Given the description of an element on the screen output the (x, y) to click on. 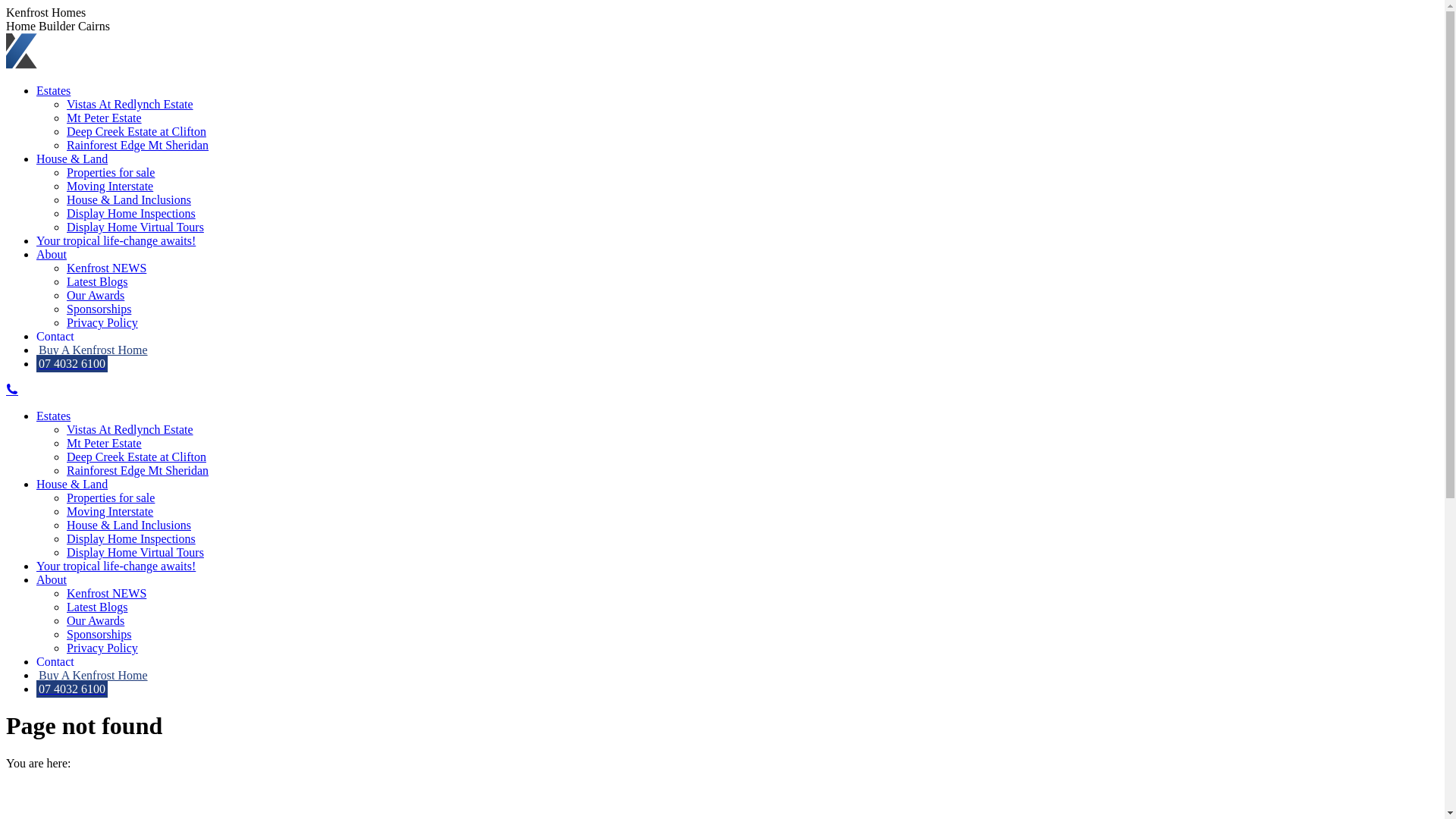
Privacy Policy Element type: text (102, 647)
Sponsorships Element type: text (98, 308)
Vistas At Redlynch Estate Element type: text (129, 429)
Rainforest Edge Mt Sheridan Element type: text (137, 470)
Home Element type: text (50, 788)
07 4032 6100 Element type: text (71, 363)
Our Awards Element type: text (95, 620)
Kenfrost NEWS Element type: text (106, 592)
About Element type: text (51, 253)
Contact Element type: text (55, 661)
House & Land Inclusions Element type: text (128, 199)
Your tropical life-change awaits! Element type: text (115, 240)
Latest Blogs Element type: text (96, 606)
Display Home Inspections Element type: text (130, 538)
Properties for sale Element type: text (110, 172)
Moving Interstate Element type: text (109, 185)
Sponsorships Element type: text (98, 633)
Rainforest Edge Mt Sheridan Element type: text (137, 144)
Estates Element type: text (53, 90)
Our Awards Element type: text (95, 294)
Estates Element type: text (53, 415)
About Element type: text (51, 579)
Buy A Kenfrost Home Element type: text (93, 675)
Display Home Virtual Tours Element type: text (134, 552)
Display Home Virtual Tours Element type: text (134, 226)
Deep Creek Estate at Clifton Element type: text (136, 131)
Display Home Inspections Element type: text (130, 213)
Skip to content Element type: text (5, 5)
House & Land Inclusions Element type: text (128, 524)
House & Land Element type: text (71, 158)
Buy A Kenfrost Home Element type: text (93, 349)
Your tropical life-change awaits! Element type: text (115, 565)
Kenfrost NEWS Element type: text (106, 267)
Vistas At Redlynch Estate Element type: text (129, 103)
Deep Creek Estate at Clifton Element type: text (136, 456)
Contact Element type: text (55, 335)
Mt Peter Estate Element type: text (103, 117)
Properties for sale Element type: text (110, 497)
Privacy Policy Element type: text (102, 322)
Latest Blogs Element type: text (96, 281)
House & Land Element type: text (71, 483)
07 4032 6100 Element type: text (71, 688)
Moving Interstate Element type: text (109, 511)
Mt Peter Estate Element type: text (103, 442)
